Given the description of an element on the screen output the (x, y) to click on. 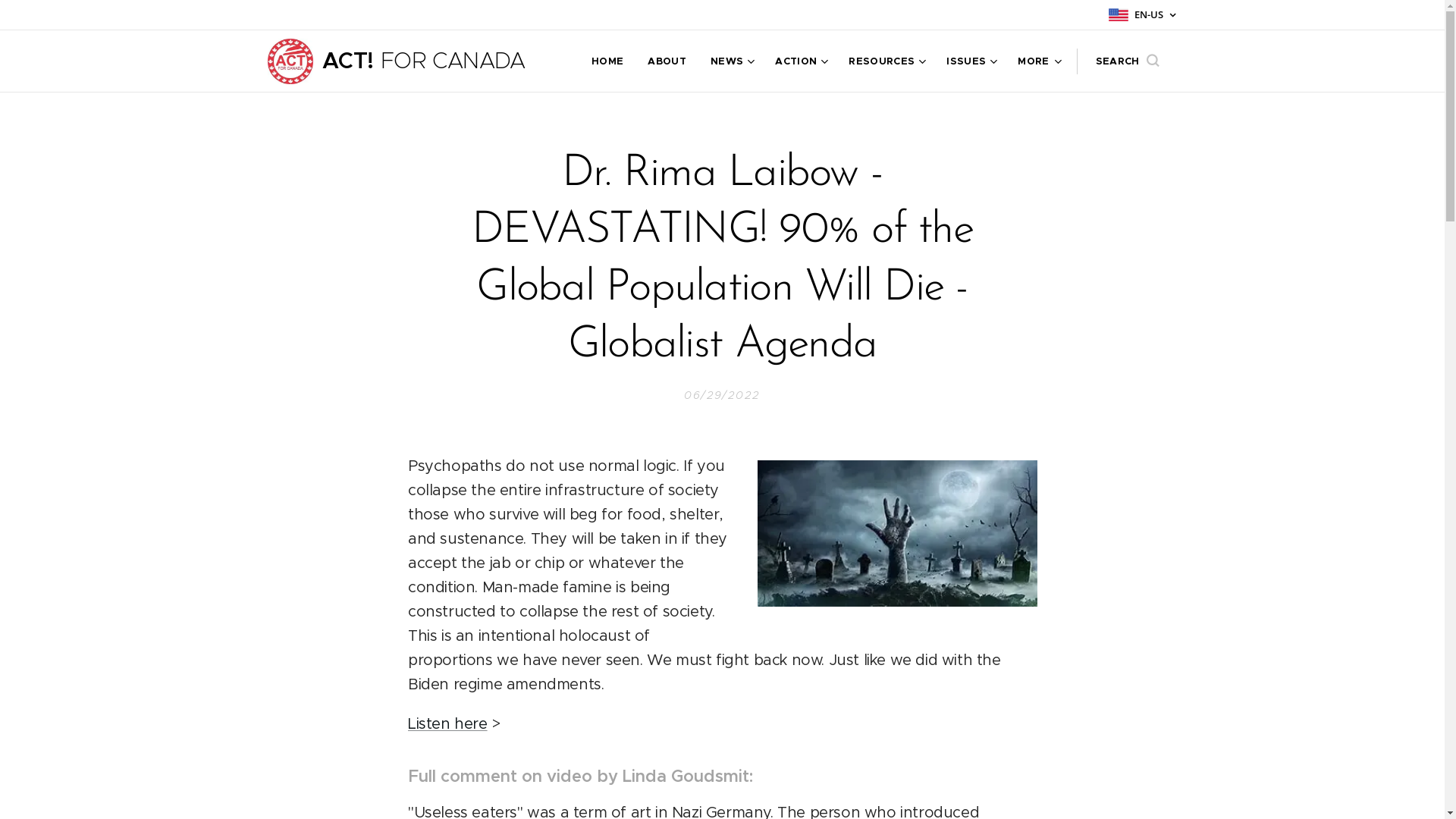
MORE Element type: text (1032, 61)
ACT! FOR CANADA Element type: text (398, 61)
HOME Element type: text (611, 61)
ABOUT Element type: text (666, 61)
ACTION Element type: text (799, 61)
RESOURCES Element type: text (885, 61)
NEWS Element type: text (730, 61)
ISSUES Element type: text (969, 61)
Listen here Element type: text (447, 723)
